Given the description of an element on the screen output the (x, y) to click on. 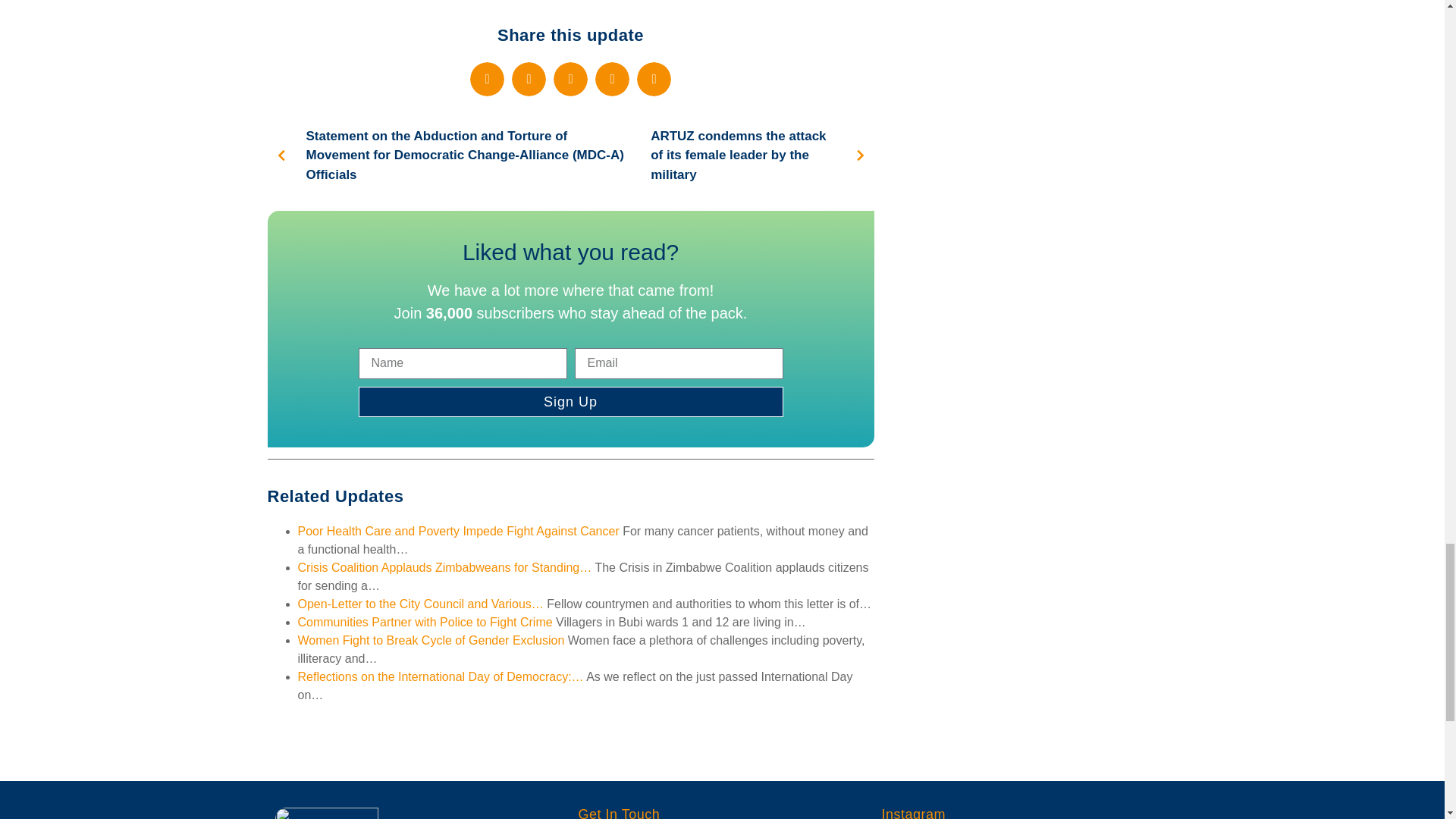
Communities Partner with Police to Fight Crime (424, 621)
Sign Up (570, 401)
Women Fight to Break Cycle of Gender Exclusion (430, 640)
Poor Health Care and Poverty Impede Fight Against Cancer (457, 530)
